Given the description of an element on the screen output the (x, y) to click on. 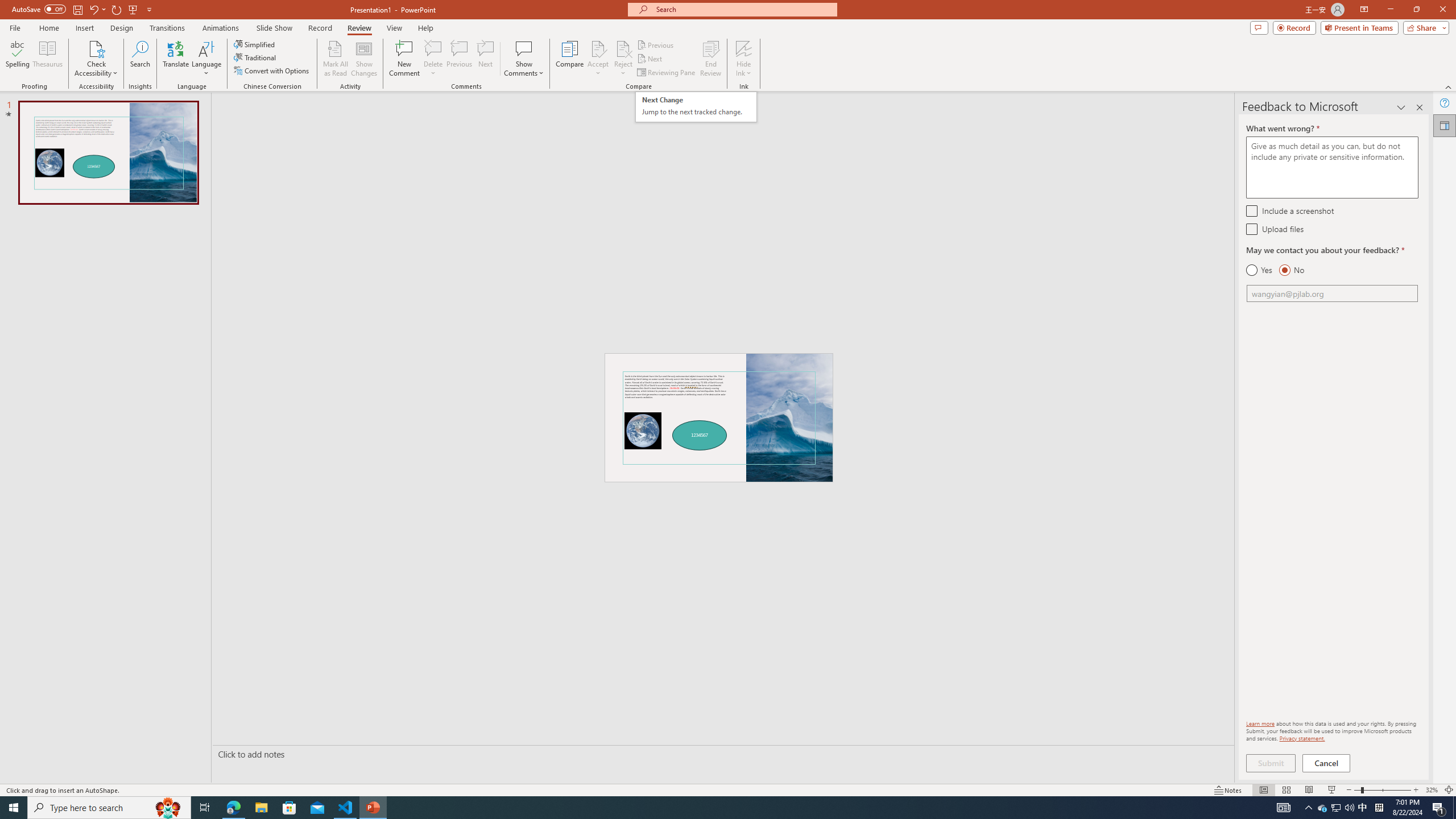
New Comment (403, 58)
Thesaurus... (47, 58)
Simplified (254, 44)
Language (206, 58)
Zoom 32% (1431, 790)
Cancel (1327, 763)
Check Accessibility (95, 48)
